Given the description of an element on the screen output the (x, y) to click on. 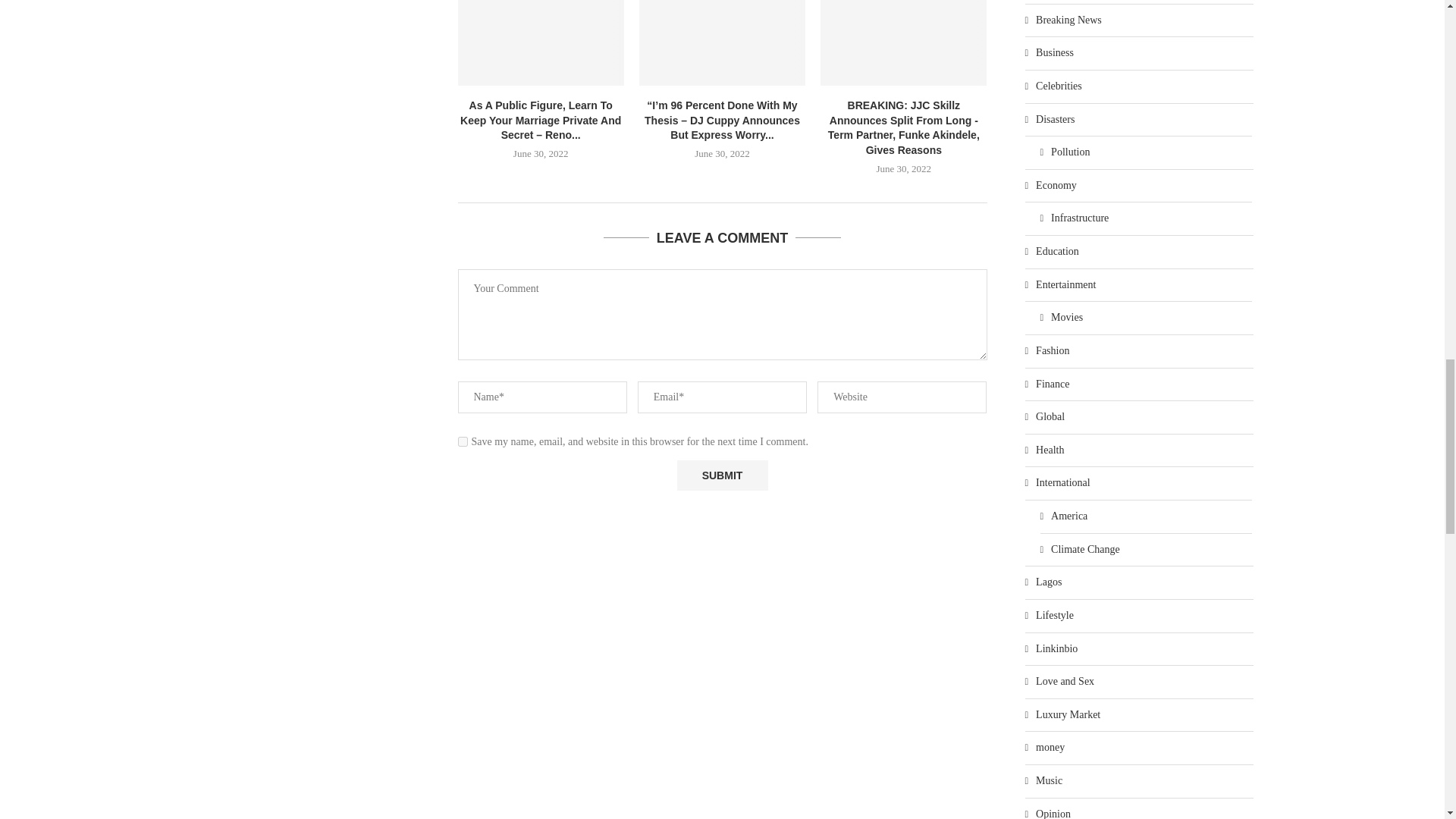
Submit (722, 475)
yes (462, 441)
